Given the description of an element on the screen output the (x, y) to click on. 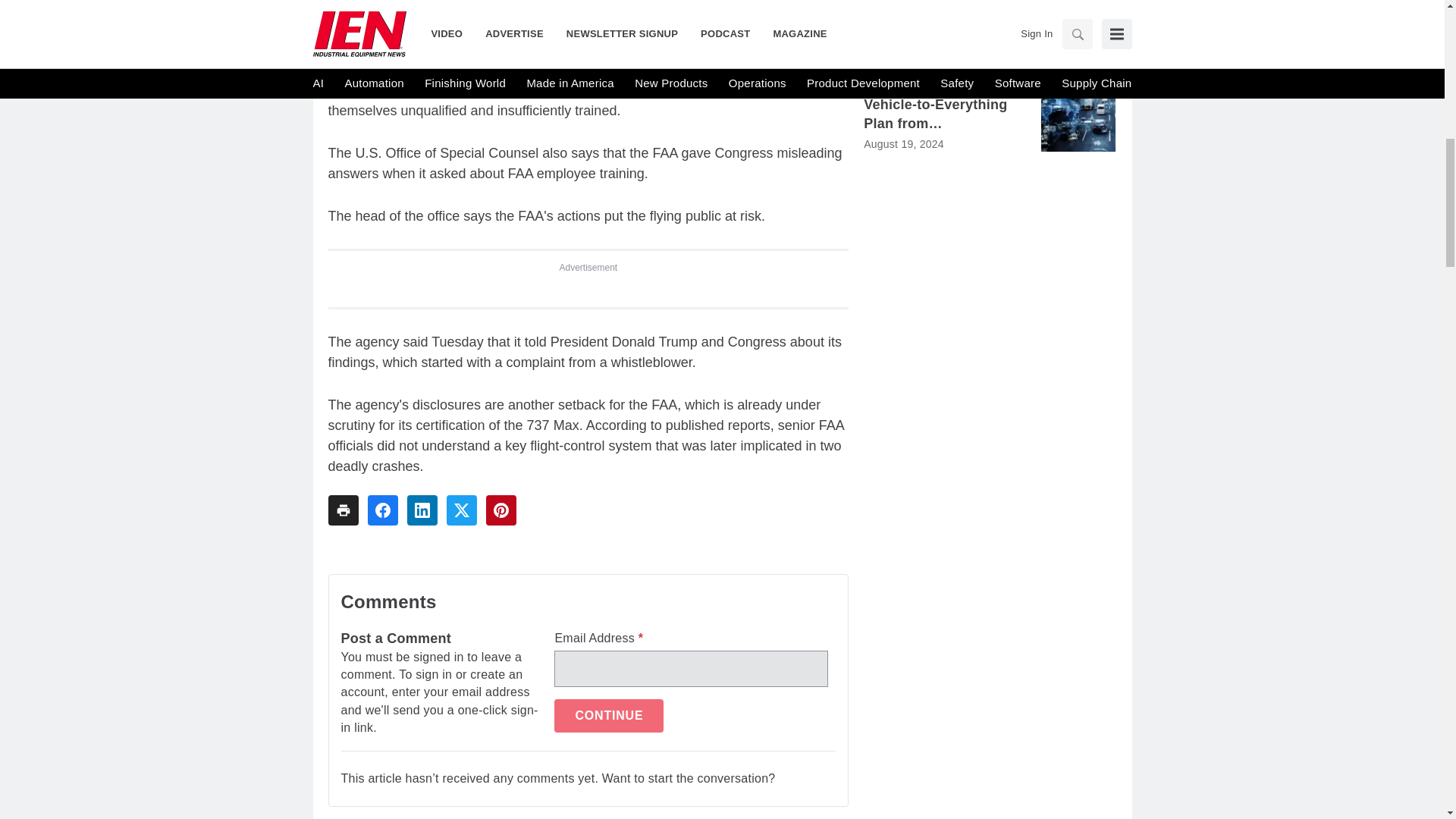
Share To print (342, 509)
Share To facebook (381, 509)
Share To linkedin (421, 509)
Share To pinterest (499, 509)
Share To twitter (460, 509)
